Given the description of an element on the screen output the (x, y) to click on. 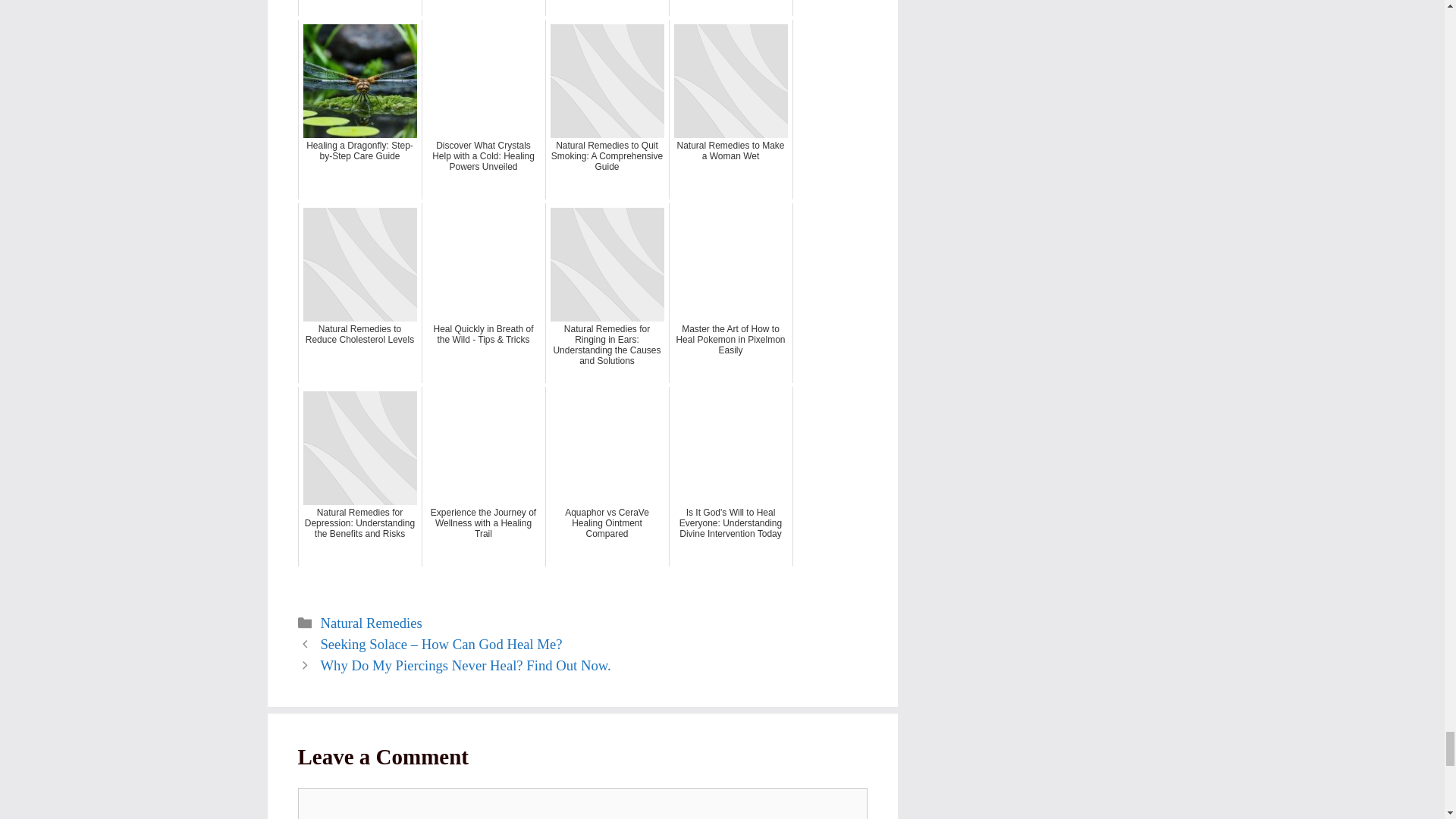
Does the Holy Spirit Heal? Insights on Divine Healing (606, 7)
Unveiling How Mayuri Healed Nemu - Bleach Breakdown (484, 7)
